Given the description of an element on the screen output the (x, y) to click on. 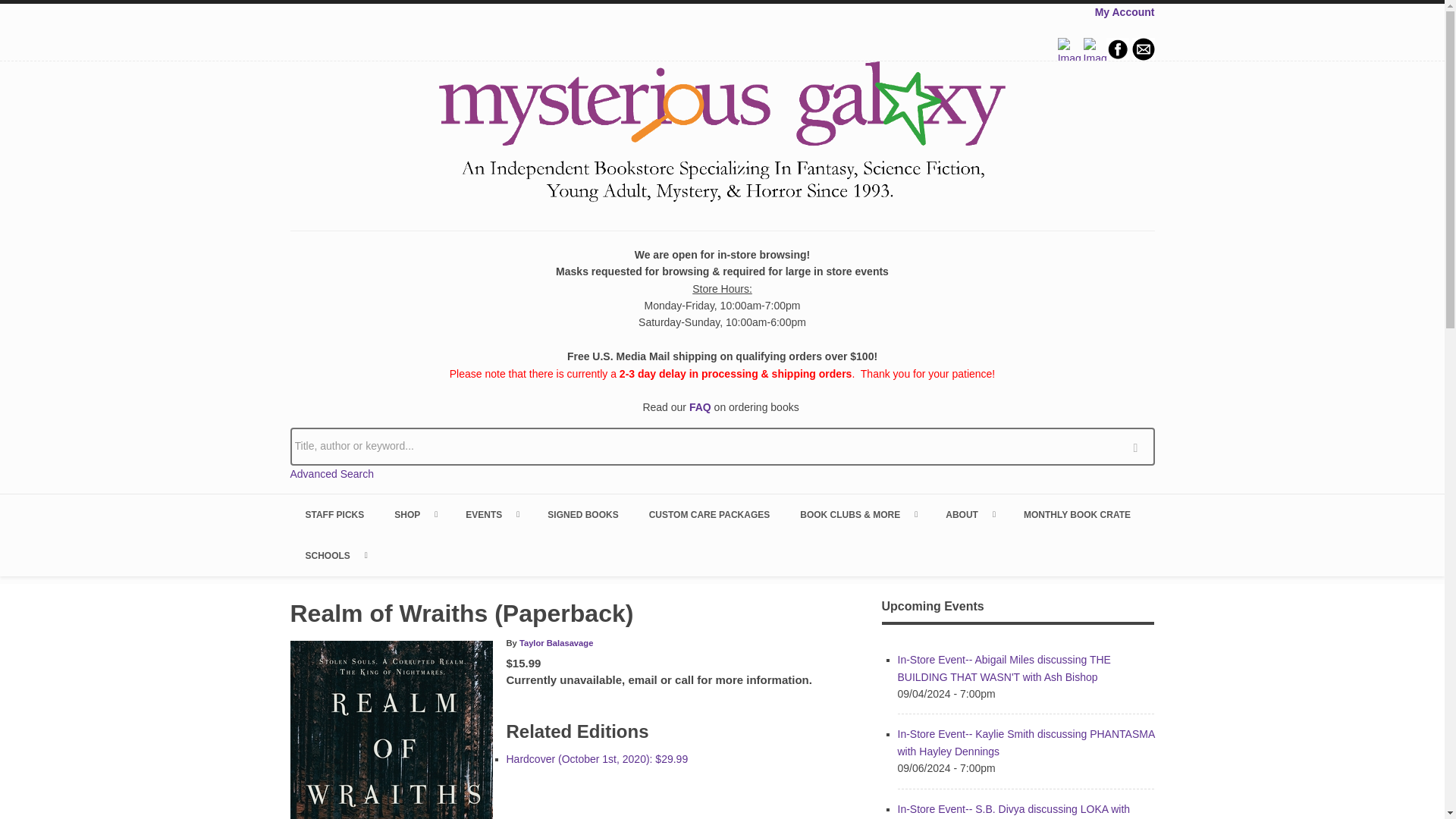
SHOP (413, 514)
STAFF PICKS (333, 514)
My Account (1124, 11)
Title, author or keyword... (721, 446)
EVENTS (490, 514)
FAQ (699, 407)
Home (722, 134)
Advanced Search (331, 473)
